Given the description of an element on the screen output the (x, y) to click on. 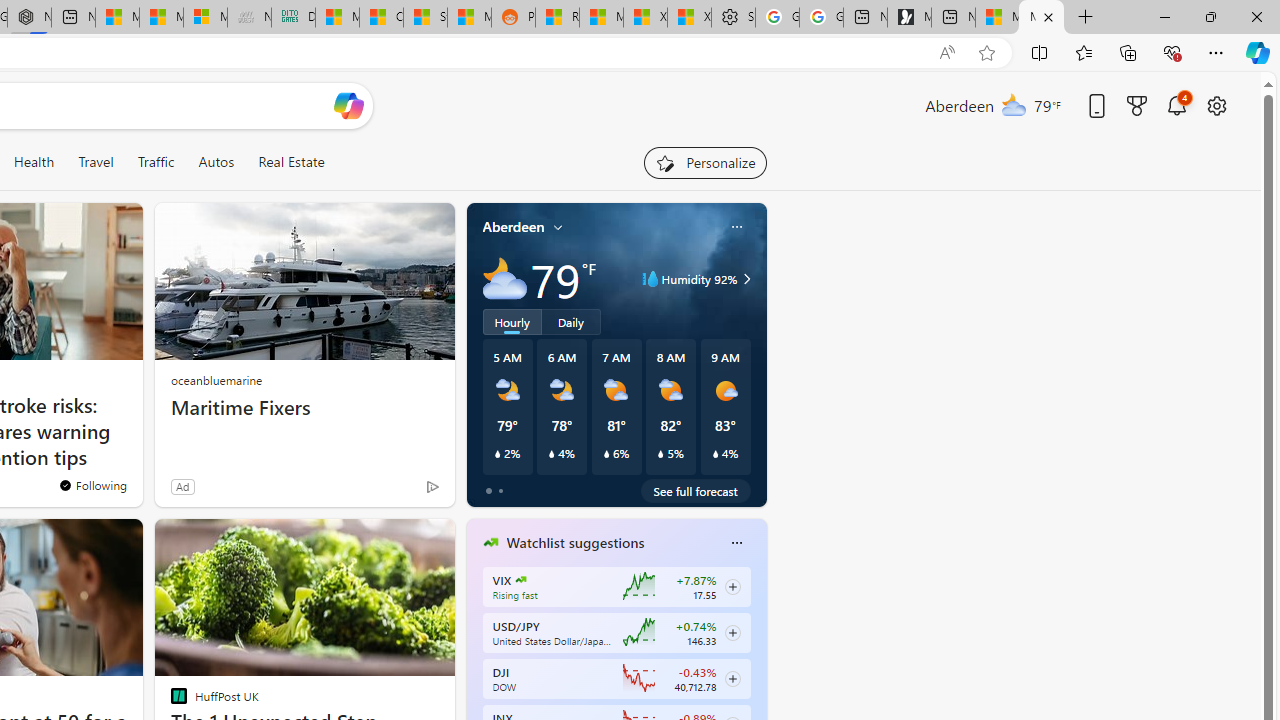
next (756, 670)
Class: weather-current-precipitation-glyph (715, 453)
